Given the description of an element on the screen output the (x, y) to click on. 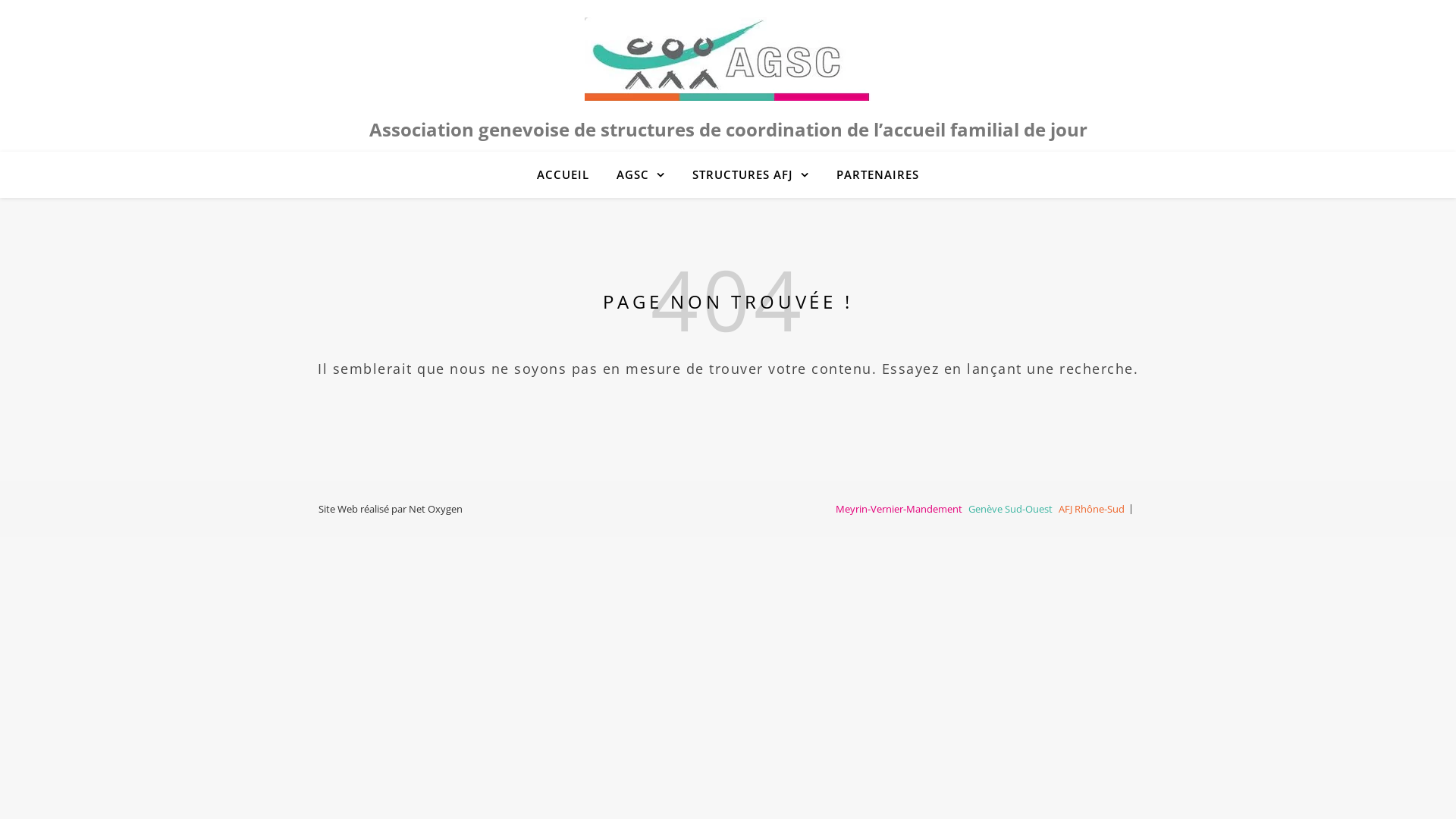
AGSC Element type: text (640, 174)
STRUCTURES AFJ Element type: text (750, 174)
Meyrin-Vernier-Mandement Element type: text (898, 508)
AGSC Element type: hover (727, 58)
Net Oxygen Element type: text (435, 508)
ACCUEIL Element type: text (568, 174)
PARTENAIRES Element type: text (871, 174)
